Given the description of an element on the screen output the (x, y) to click on. 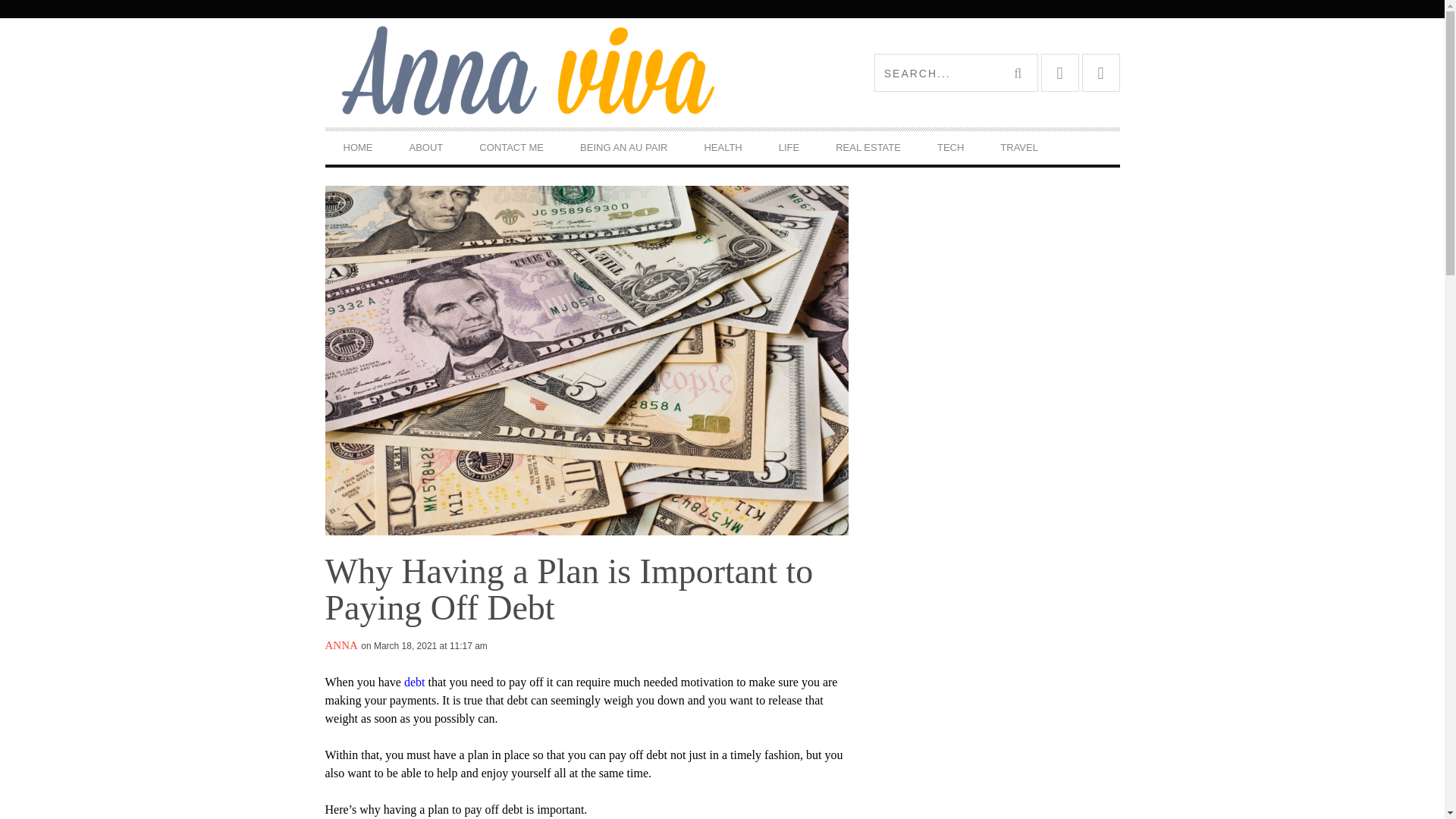
ABOUT (426, 147)
ANNA (340, 644)
BEING AN AU PAIR (623, 147)
debt (414, 681)
Anna Viva (523, 72)
REAL ESTATE (867, 147)
HEALTH (722, 147)
LIFE (788, 147)
Posts by Anna (340, 644)
CONTACT ME (511, 147)
TECH (949, 147)
HOME (357, 147)
TRAVEL (1019, 147)
